Given the description of an element on the screen output the (x, y) to click on. 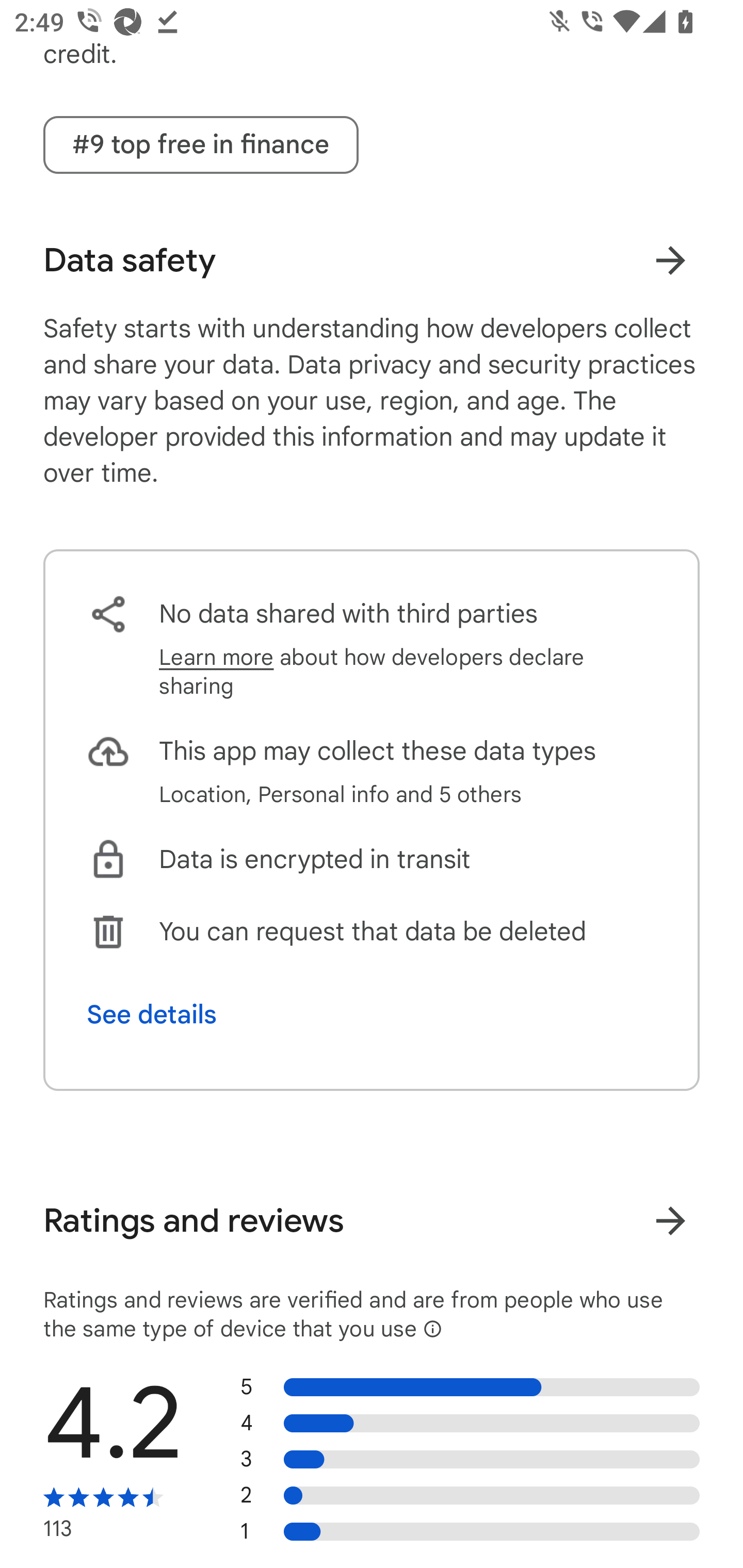
#9 top free in finance tag (200, 144)
Data safety Learn more about data safety (371, 260)
Learn more about data safety (670, 260)
Learn more about how developers declare sharing (407, 671)
See details (151, 1015)
Ratings and reviews View all ratings and reviews (371, 1220)
View all ratings and reviews (670, 1220)
